Given the description of an element on the screen output the (x, y) to click on. 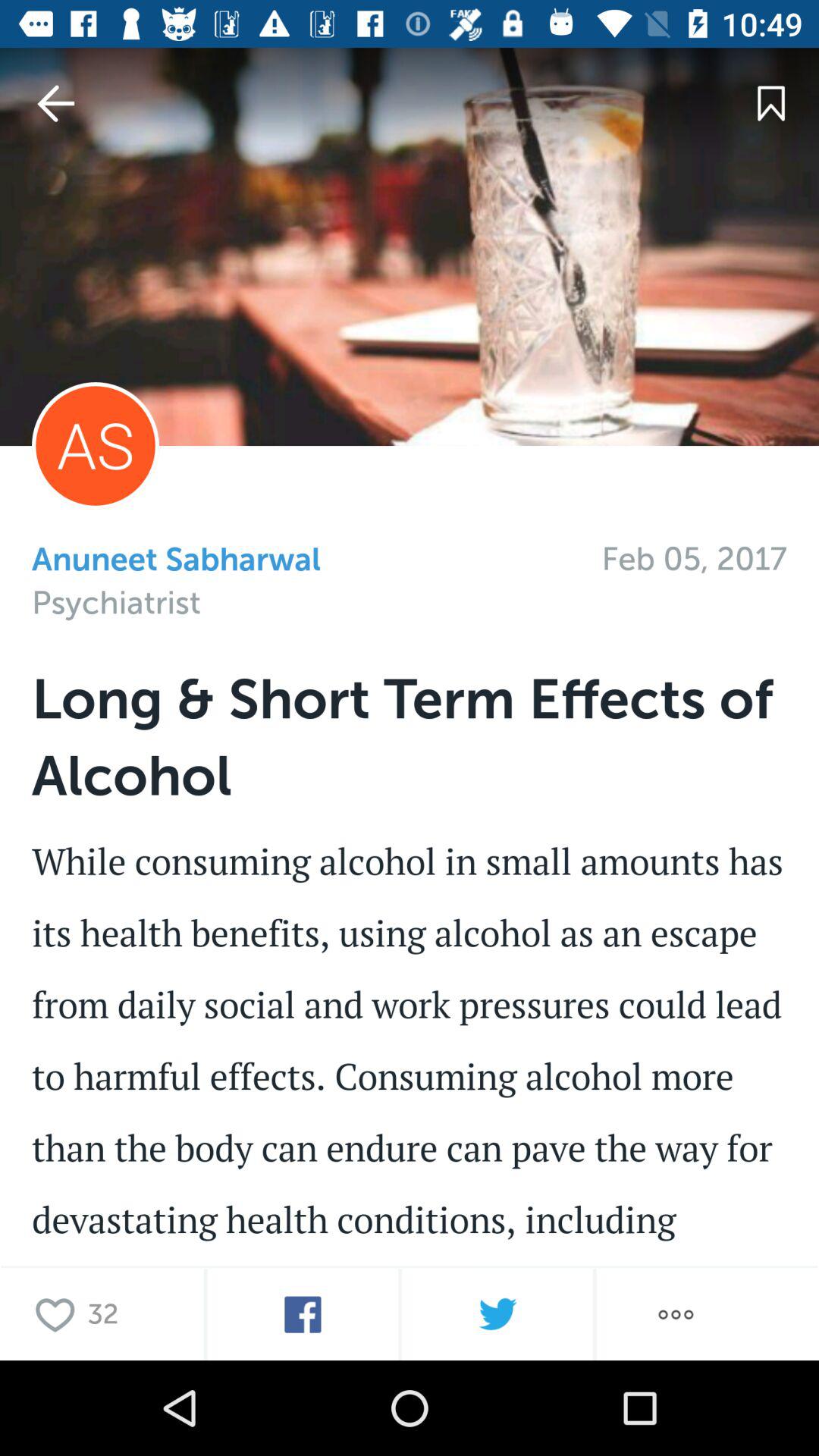
click on profile icon above anuneet sabharwal (94, 445)
click the facebook logo on the web page (302, 1313)
click on the last button at bottom right corner (676, 1313)
